Given the description of an element on the screen output the (x, y) to click on. 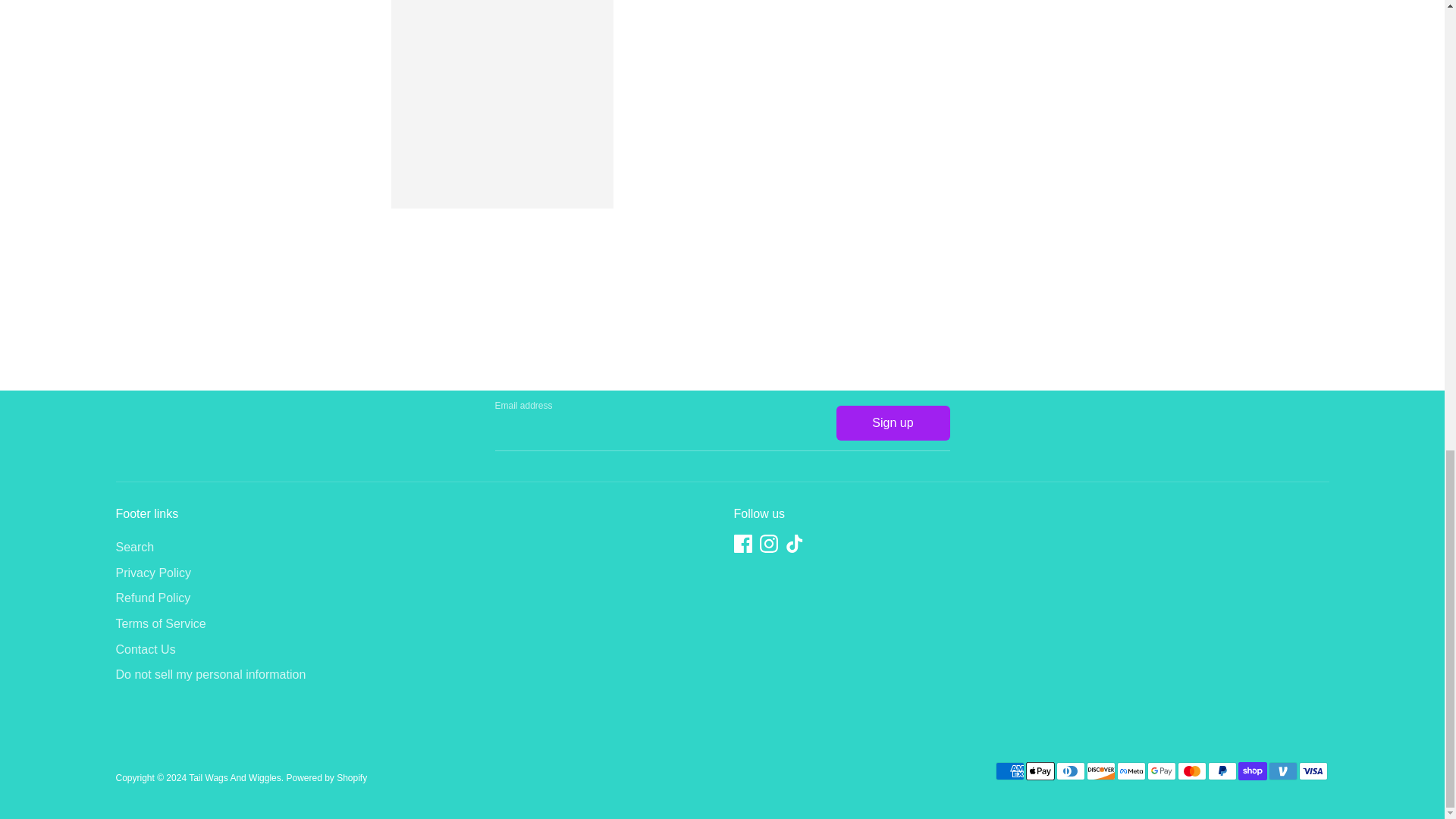
Meta Pay (1130, 771)
Apple Pay (1039, 771)
Diners Club (1069, 771)
Google Pay (1160, 771)
Discover (1100, 771)
American Express (1008, 771)
Mastercard (1190, 771)
